Given the description of an element on the screen output the (x, y) to click on. 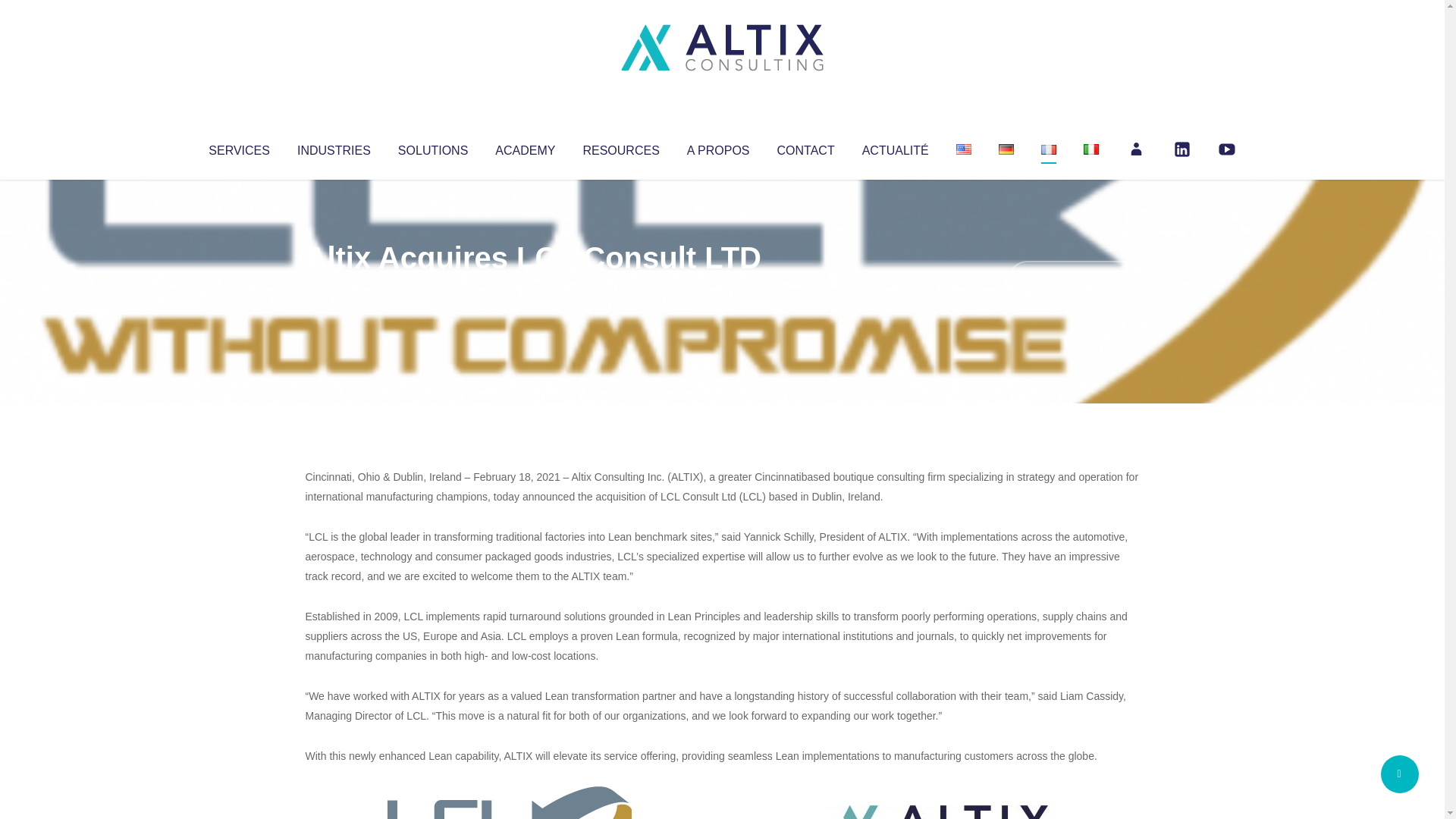
INDUSTRIES (334, 146)
No Comments (1073, 278)
A PROPOS (718, 146)
Altix (333, 287)
SOLUTIONS (432, 146)
ACADEMY (524, 146)
RESOURCES (620, 146)
SERVICES (238, 146)
Uncategorized (530, 287)
Articles par Altix (333, 287)
